Given the description of an element on the screen output the (x, y) to click on. 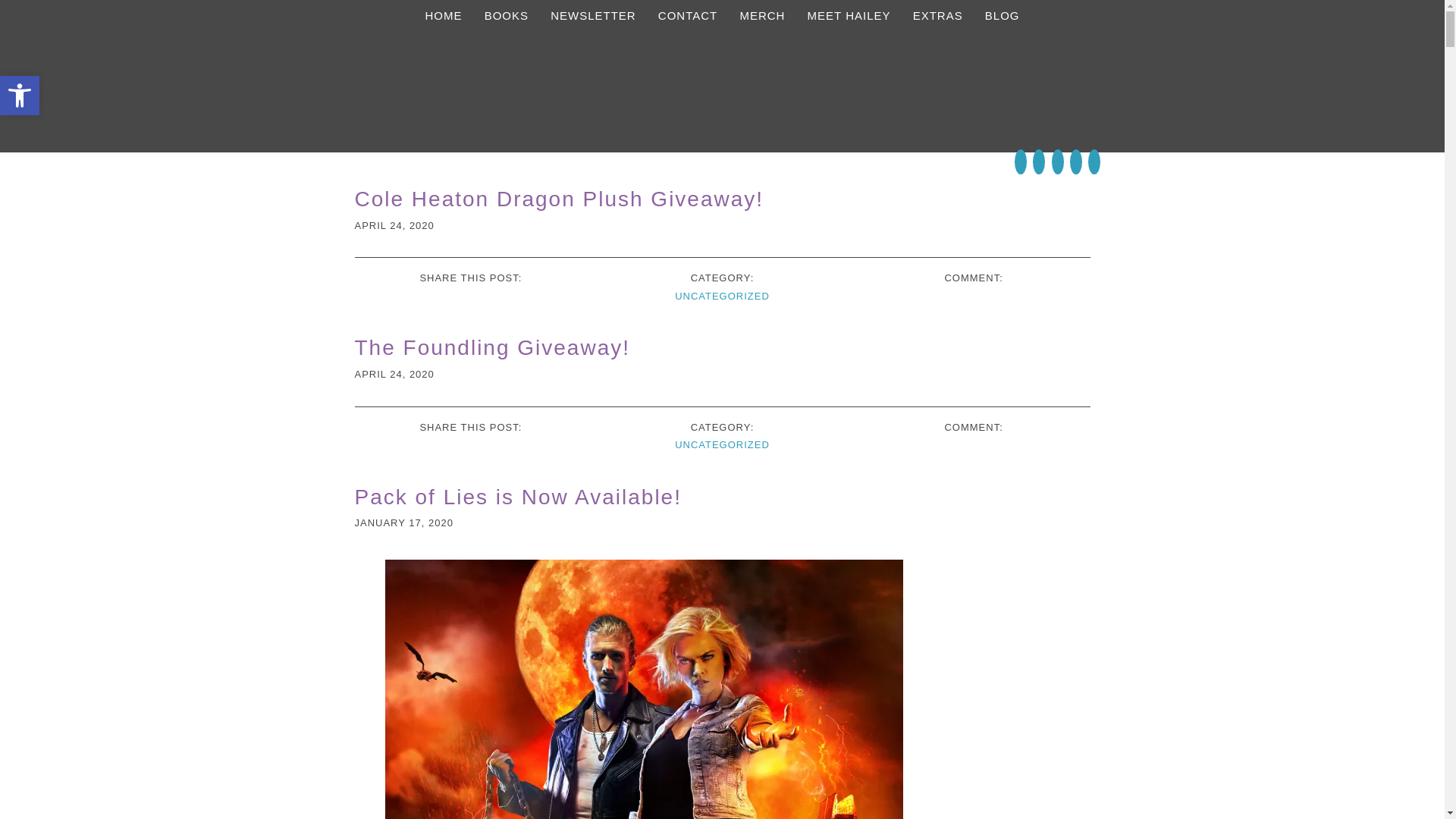
MERCH (761, 15)
Accessibility Tools (19, 95)
Accessibility Tools (19, 95)
HOME (442, 15)
BOOKS (506, 15)
MEET HAILEY (848, 15)
EXTRAS (938, 15)
